Given the description of an element on the screen output the (x, y) to click on. 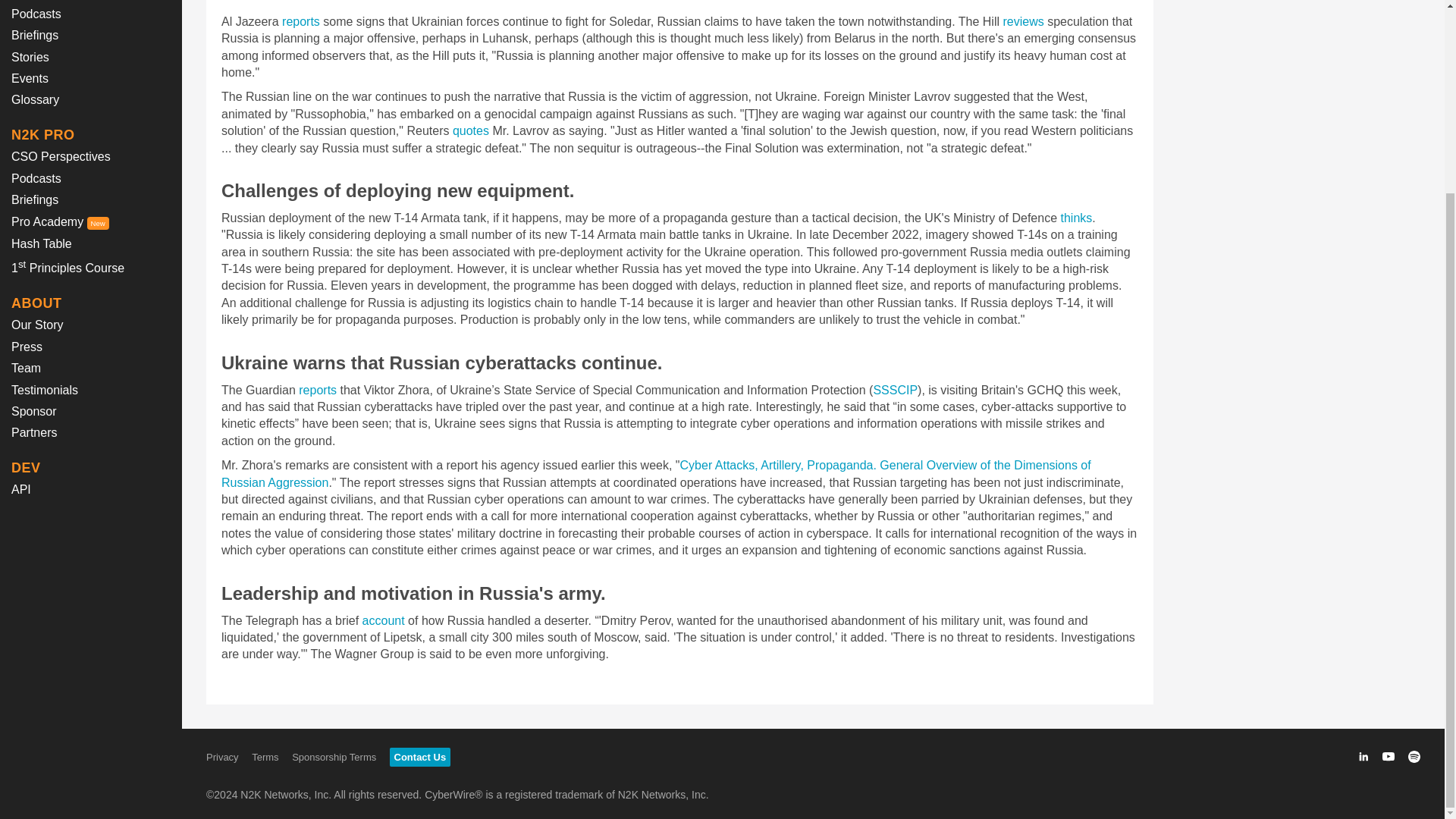
Team (25, 367)
CSO Perspectives (60, 155)
Glossary (35, 99)
Stories (30, 56)
1st Principles Course (67, 267)
Hash Table (41, 243)
Our Story (36, 324)
Podcasts (36, 178)
Podcasts (36, 13)
Testimonials (44, 390)
